Given the description of an element on the screen output the (x, y) to click on. 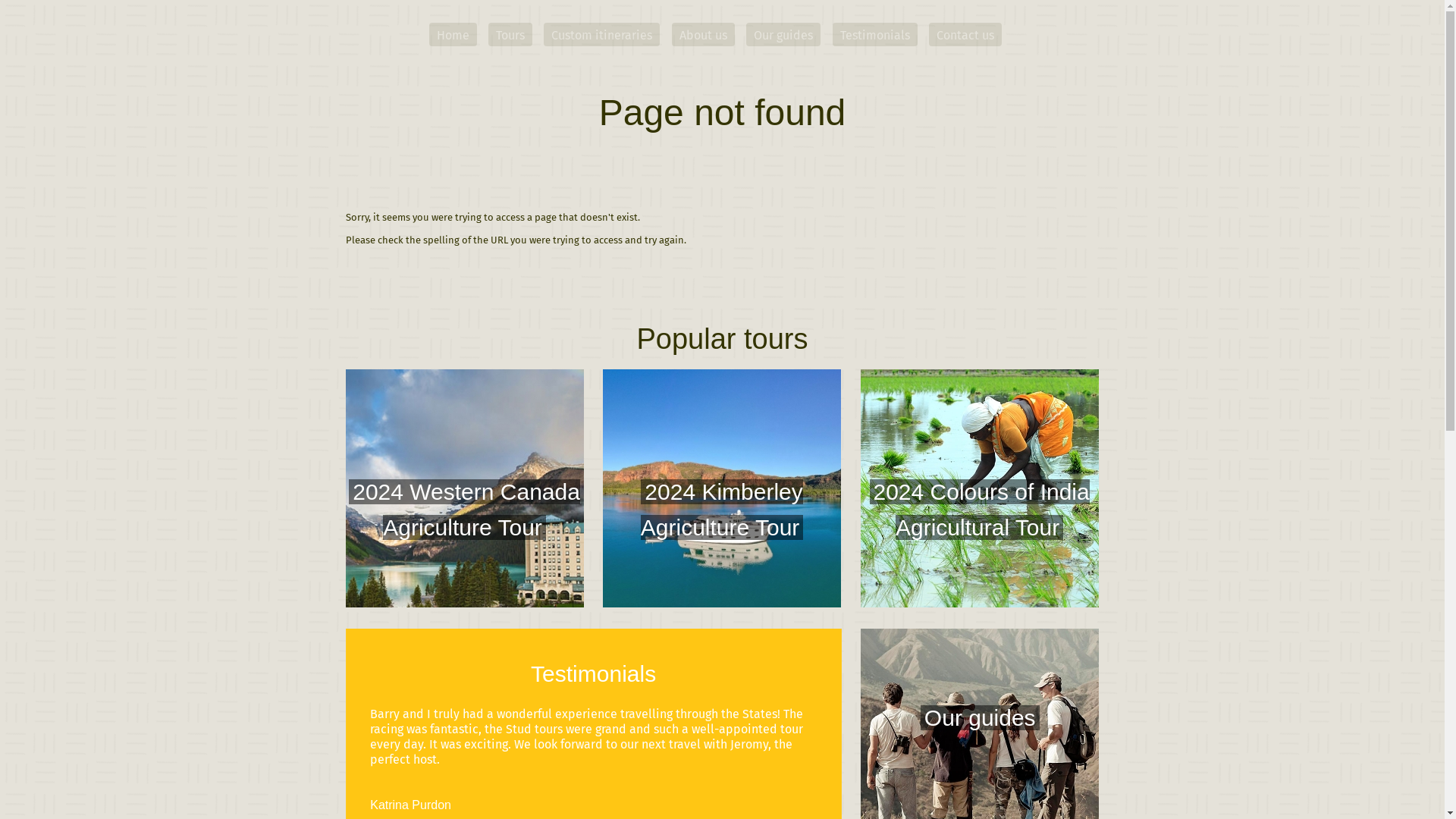
Home Element type: text (452, 34)
2024 Colours of India Agricultural Tour Element type: text (979, 490)
About us Element type: text (702, 34)
Contact us Element type: text (964, 34)
Custom itineraries Element type: text (601, 34)
2024 Western Canada Agriculture Tour Element type: text (464, 490)
Tours Element type: text (510, 34)
2024 Kimberley Agriculture Tour Element type: text (721, 490)
Testimonials Element type: text (874, 34)
Our guides Element type: text (783, 34)
